Given the description of an element on the screen output the (x, y) to click on. 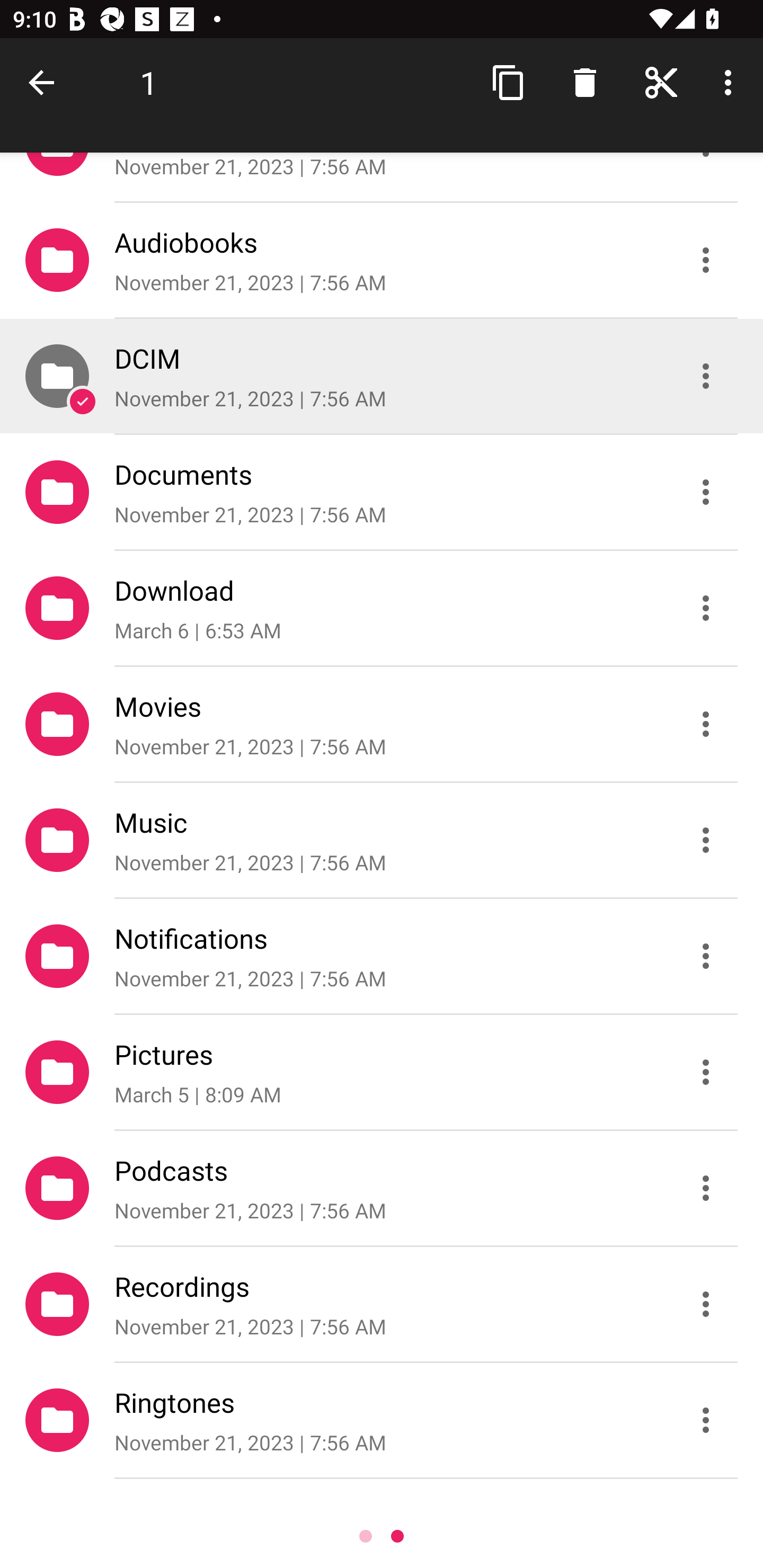
1 (148, 82)
Done (44, 81)
Copy (508, 81)
Delete (585, 81)
Cut (661, 81)
More options (731, 81)
Audiobooks November 21, 2023 | 7:56 AM (381, 259)
DCIM November 21, 2023 | 7:56 AM (381, 375)
Documents November 21, 2023 | 7:56 AM (381, 491)
Download March 6 | 6:53 AM (381, 607)
Movies November 21, 2023 | 7:56 AM (381, 723)
Music November 21, 2023 | 7:56 AM (381, 839)
Notifications November 21, 2023 | 7:56 AM (381, 955)
Pictures March 5 | 8:09 AM (381, 1071)
Podcasts November 21, 2023 | 7:56 AM (381, 1187)
Recordings November 21, 2023 | 7:56 AM (381, 1303)
Ringtones November 21, 2023 | 7:56 AM (381, 1419)
